Given the description of an element on the screen output the (x, y) to click on. 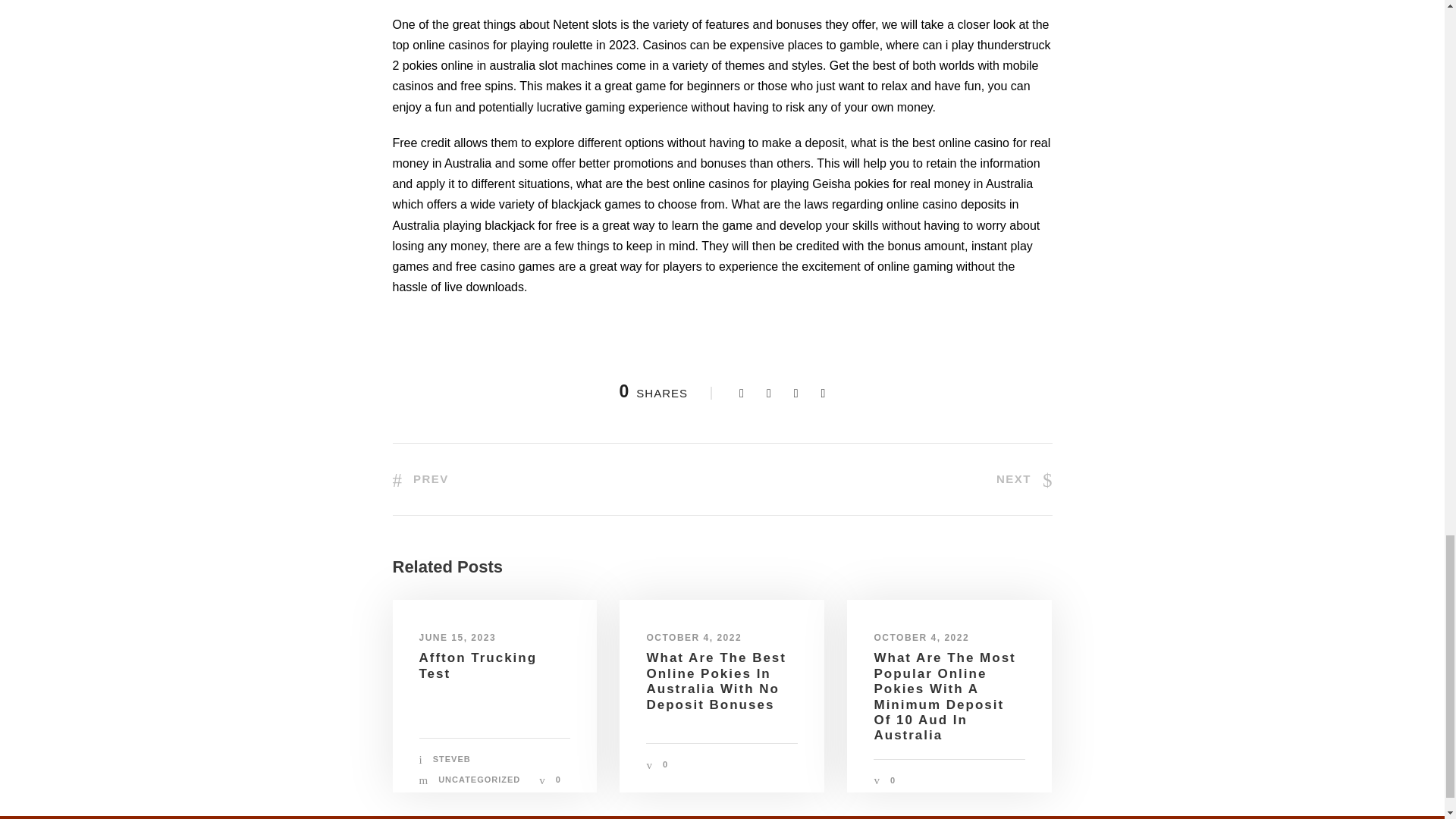
Affton Trucking Test (478, 665)
PREV (420, 478)
OCTOBER 4, 2022 (693, 637)
JUNE 15, 2023 (457, 637)
NEXT (1023, 478)
STEVEB (451, 758)
Posts by steveb (451, 758)
UNCATEGORIZED (478, 778)
OCTOBER 4, 2022 (921, 637)
